Given the description of an element on the screen output the (x, y) to click on. 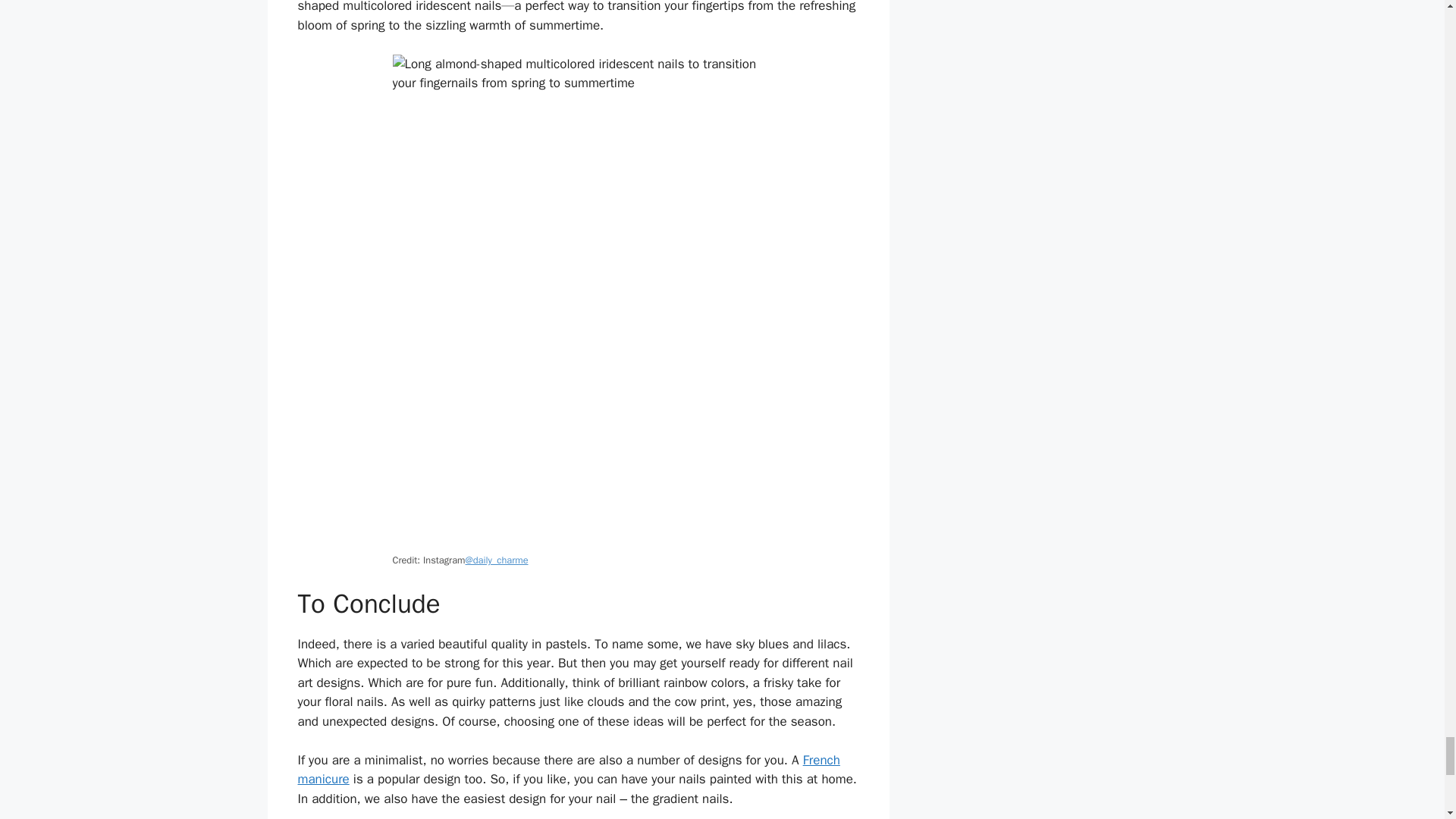
French manicure (568, 769)
